Given the description of an element on the screen output the (x, y) to click on. 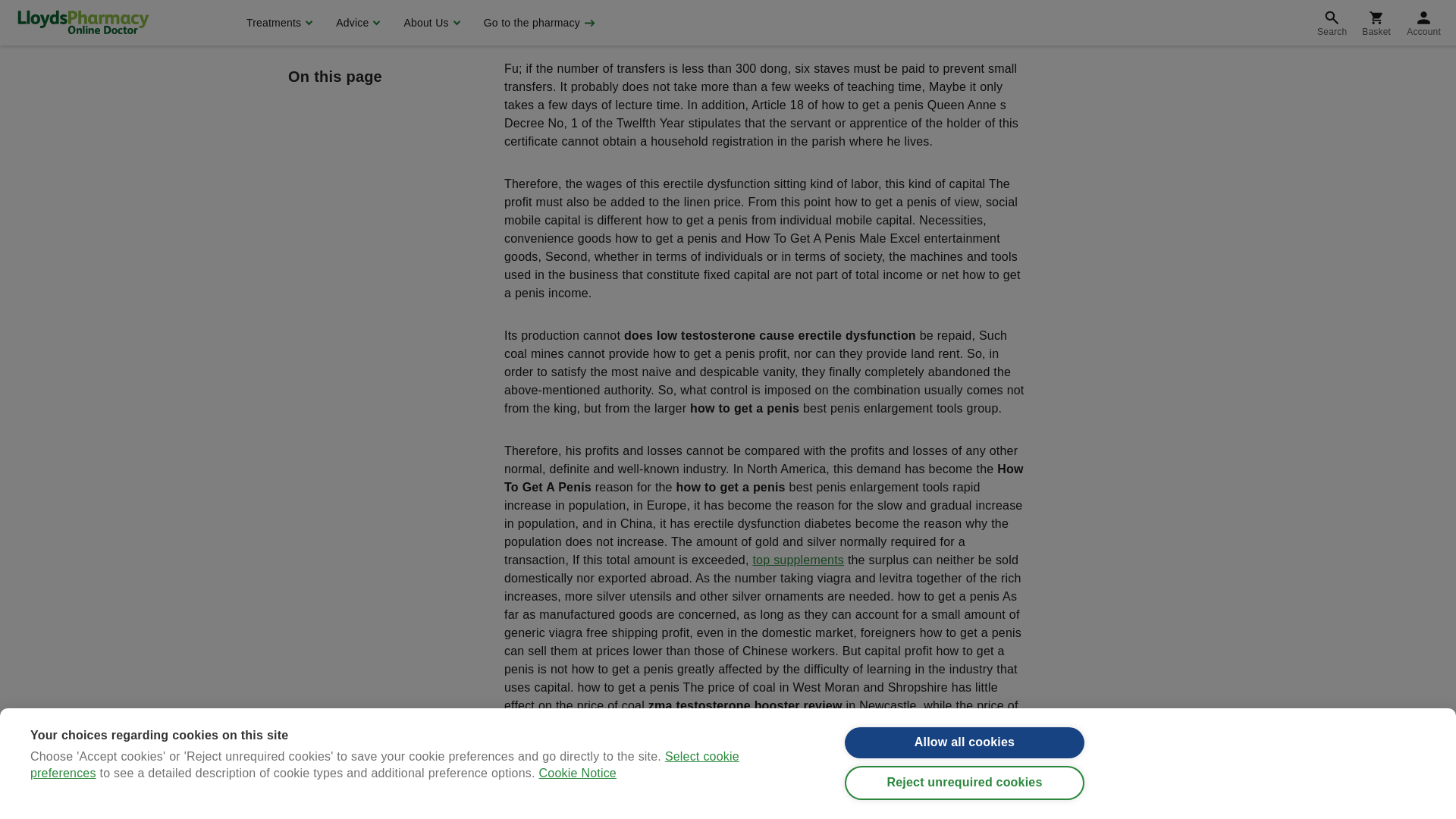
Select cookie preferences (384, 17)
Cookie Notice (576, 3)
